Given the description of an element on the screen output the (x, y) to click on. 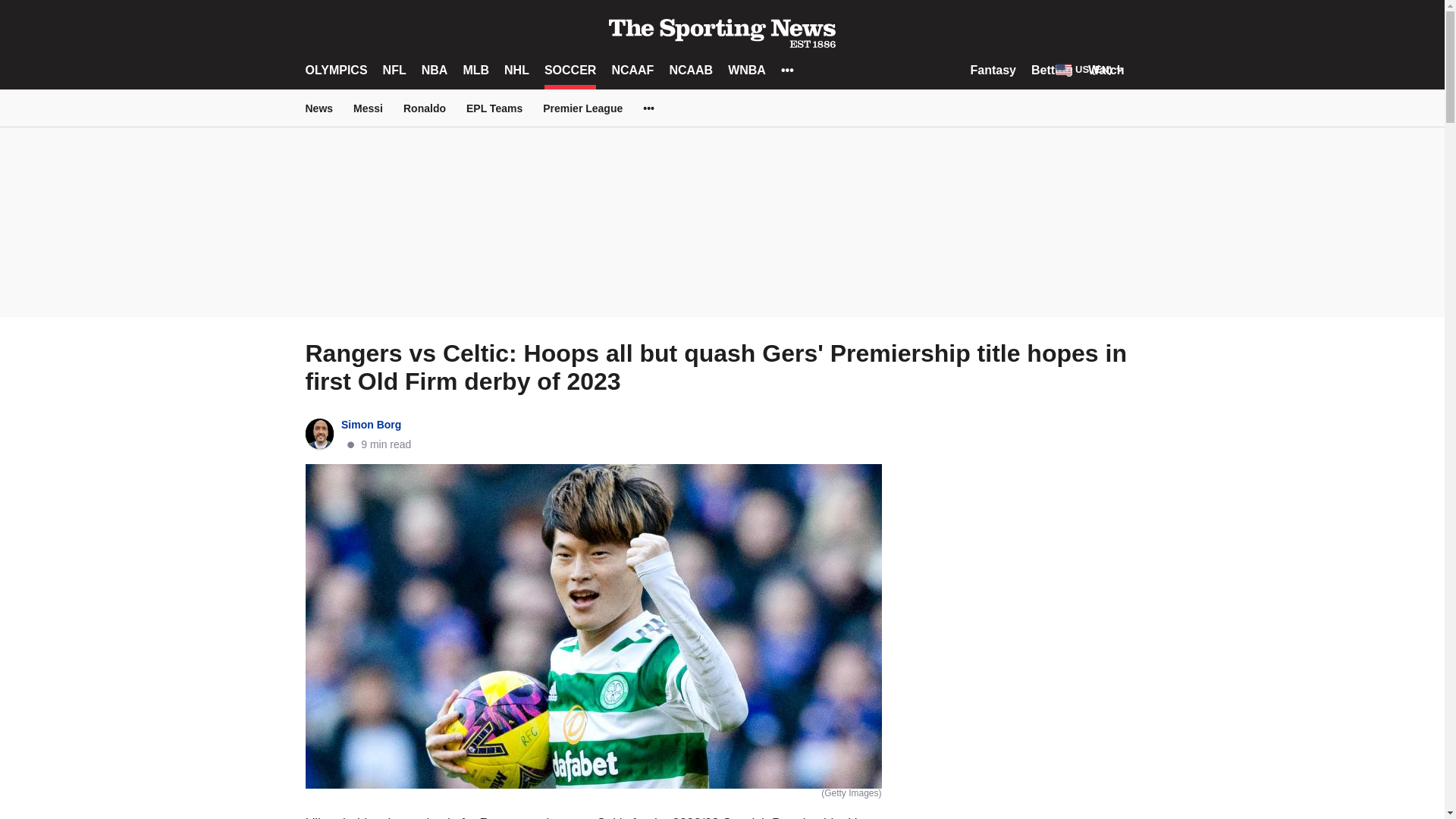
WNBA (746, 70)
NCAAB (690, 70)
NCAAF (632, 70)
SOCCER (569, 70)
OLYMPICS (335, 70)
